Given the description of an element on the screen output the (x, y) to click on. 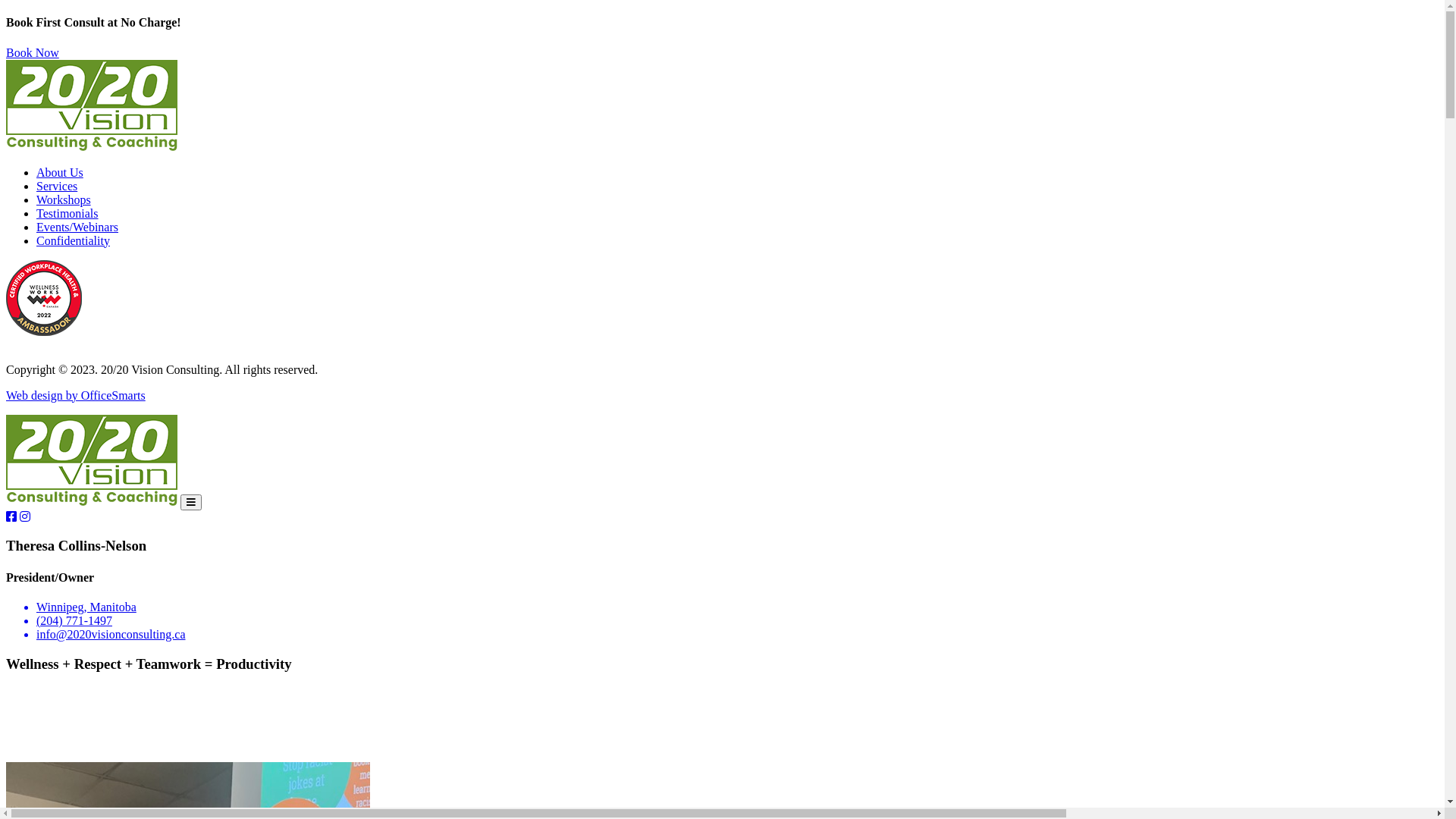
Testimonials Element type: text (67, 213)
Book Now Element type: text (32, 52)
Events/Webinars Element type: text (77, 226)
Winnipeg, Manitoba Element type: text (737, 607)
Services Element type: text (56, 185)
info@2020visionconsulting.ca Element type: text (737, 634)
About Us Element type: text (59, 172)
(204) 771-1497 Element type: text (737, 620)
Confidentiality Element type: text (72, 240)
Workshops Element type: text (63, 199)
Web design by OfficeSmarts Element type: text (75, 395)
